Given the description of an element on the screen output the (x, y) to click on. 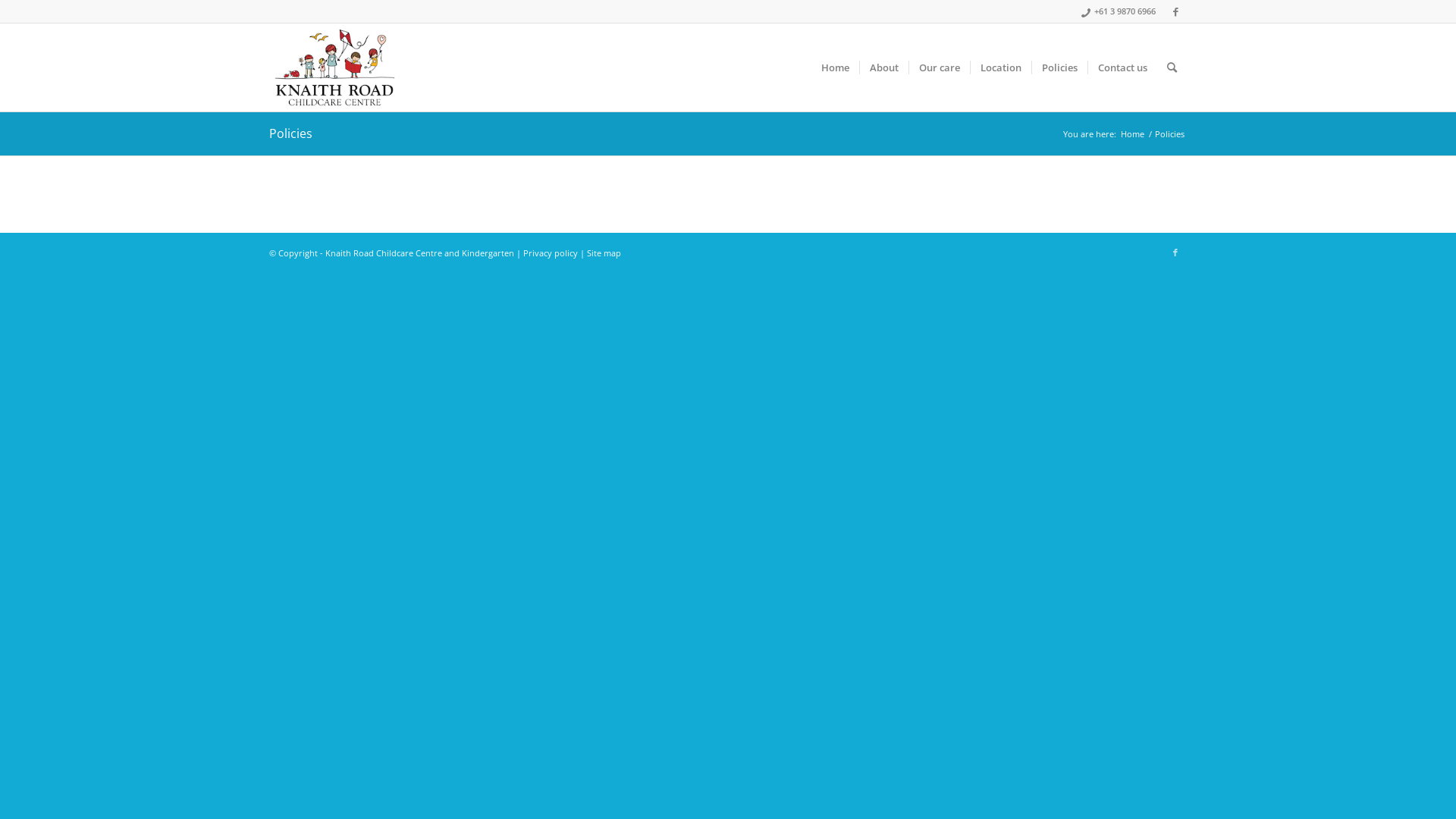
Home Element type: text (1132, 133)
Our care Element type: text (938, 67)
+61 3 9870 6966 Element type: text (1124, 10)
Privacy policy Element type: text (550, 252)
KRCCC_Logo232x156_Header Element type: hover (334, 67)
Location Element type: text (1000, 67)
Contact us Element type: text (1122, 67)
About Element type: text (883, 67)
Facebook Element type: hover (1175, 252)
Policies Element type: text (1059, 67)
Facebook Element type: hover (1175, 11)
Site map Element type: text (603, 252)
Home Element type: text (835, 67)
Policies Element type: text (290, 133)
